Given the description of an element on the screen output the (x, y) to click on. 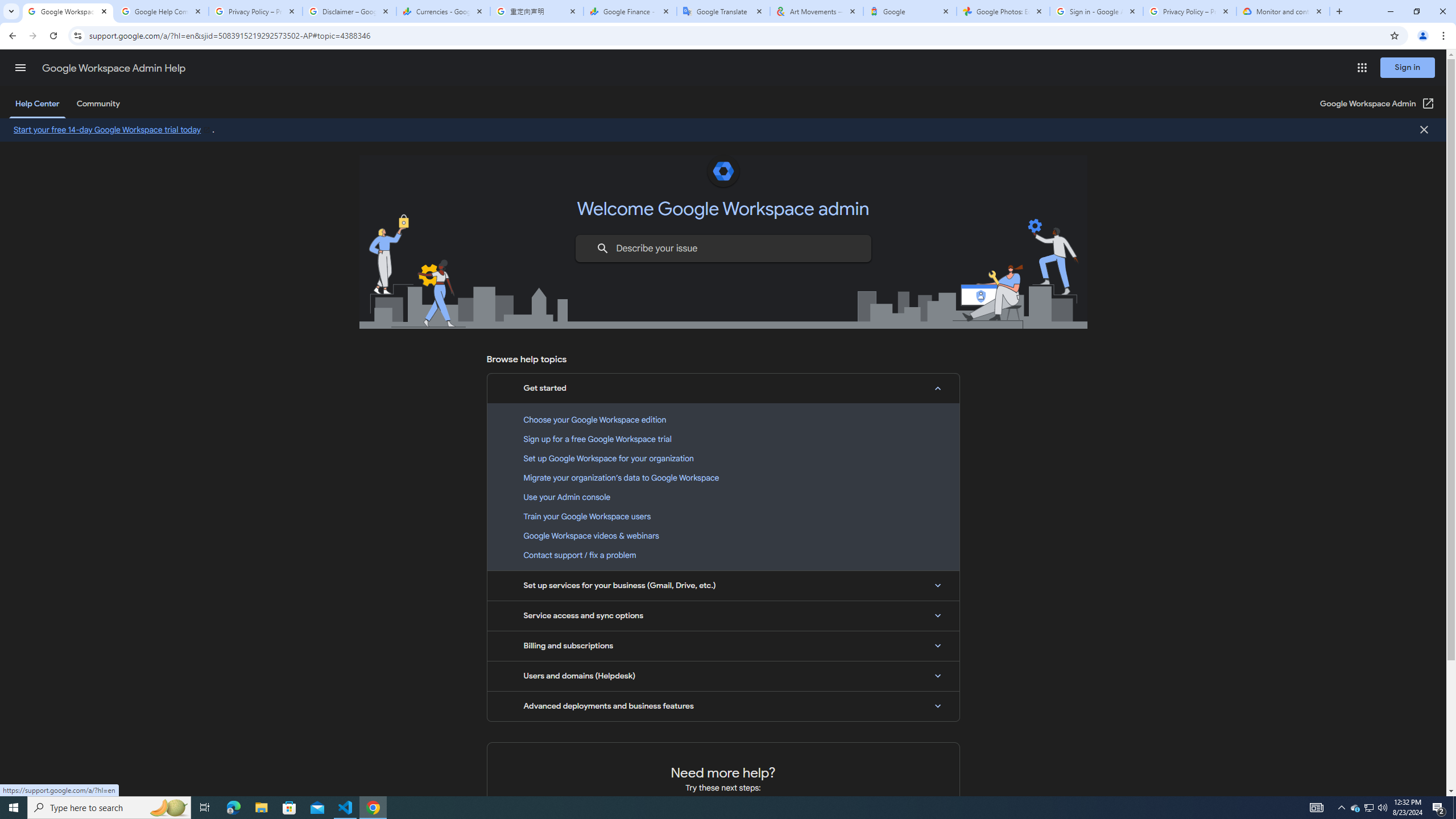
Help Center (36, 103)
Google Workspace videos & webinars (722, 535)
Service access and sync options (722, 615)
Advanced deployments and business features (722, 706)
